Given the description of an element on the screen output the (x, y) to click on. 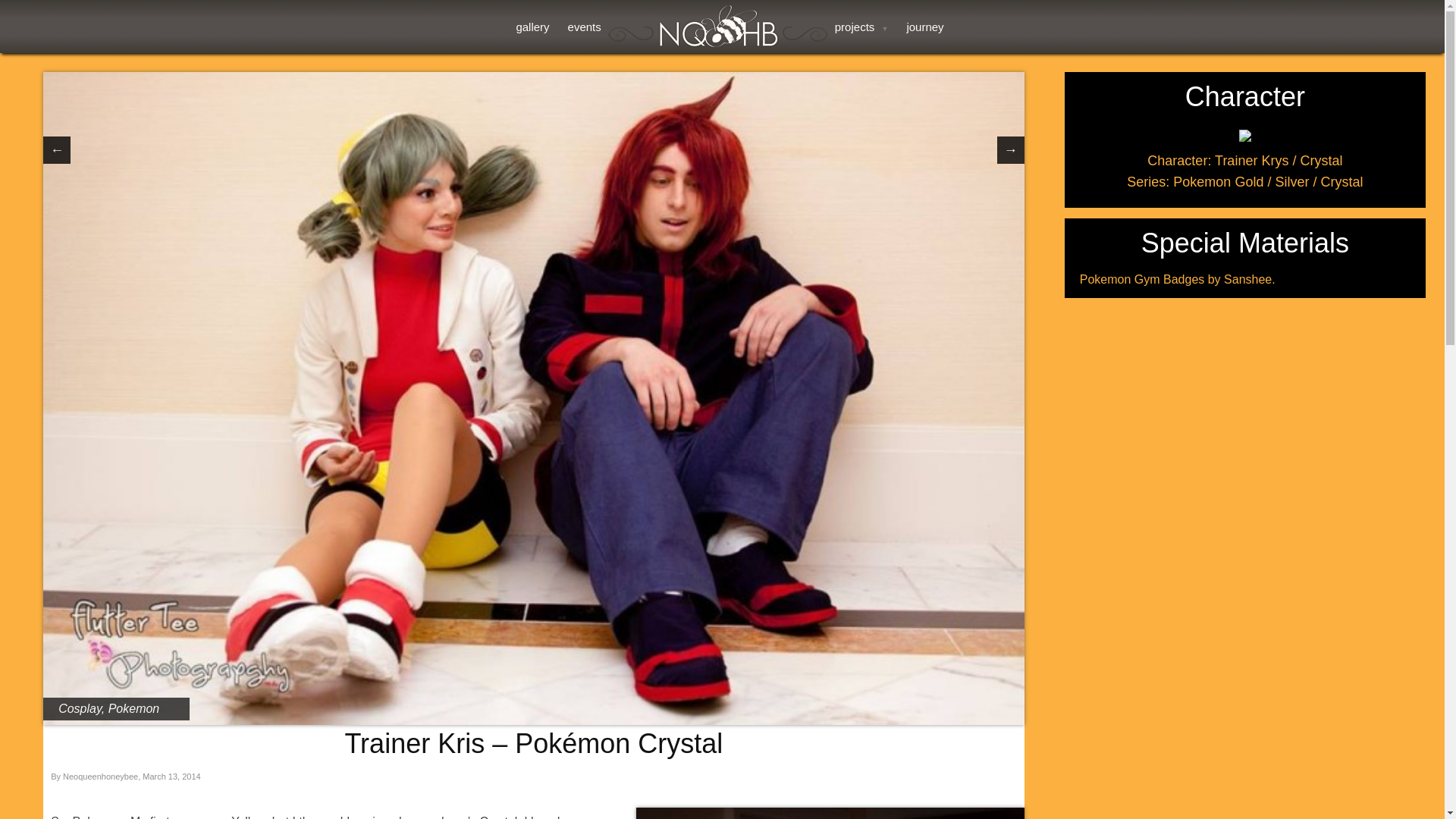
Pokemon (133, 707)
journey (924, 34)
Cosplay (79, 707)
